Given the description of an element on the screen output the (x, y) to click on. 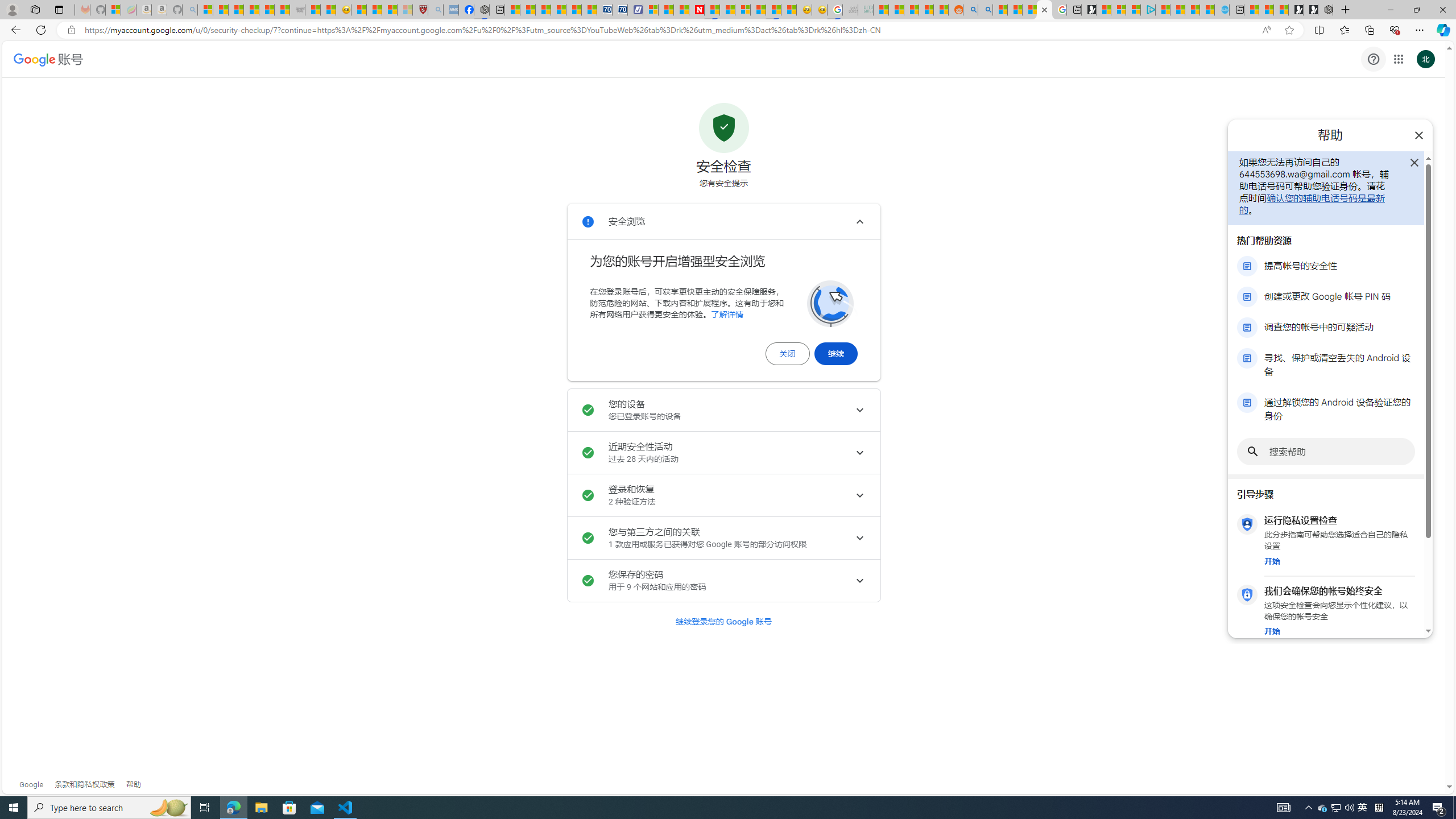
14 Common Myths Debunked By Scientific Facts (726, 9)
